Given the description of an element on the screen output the (x, y) to click on. 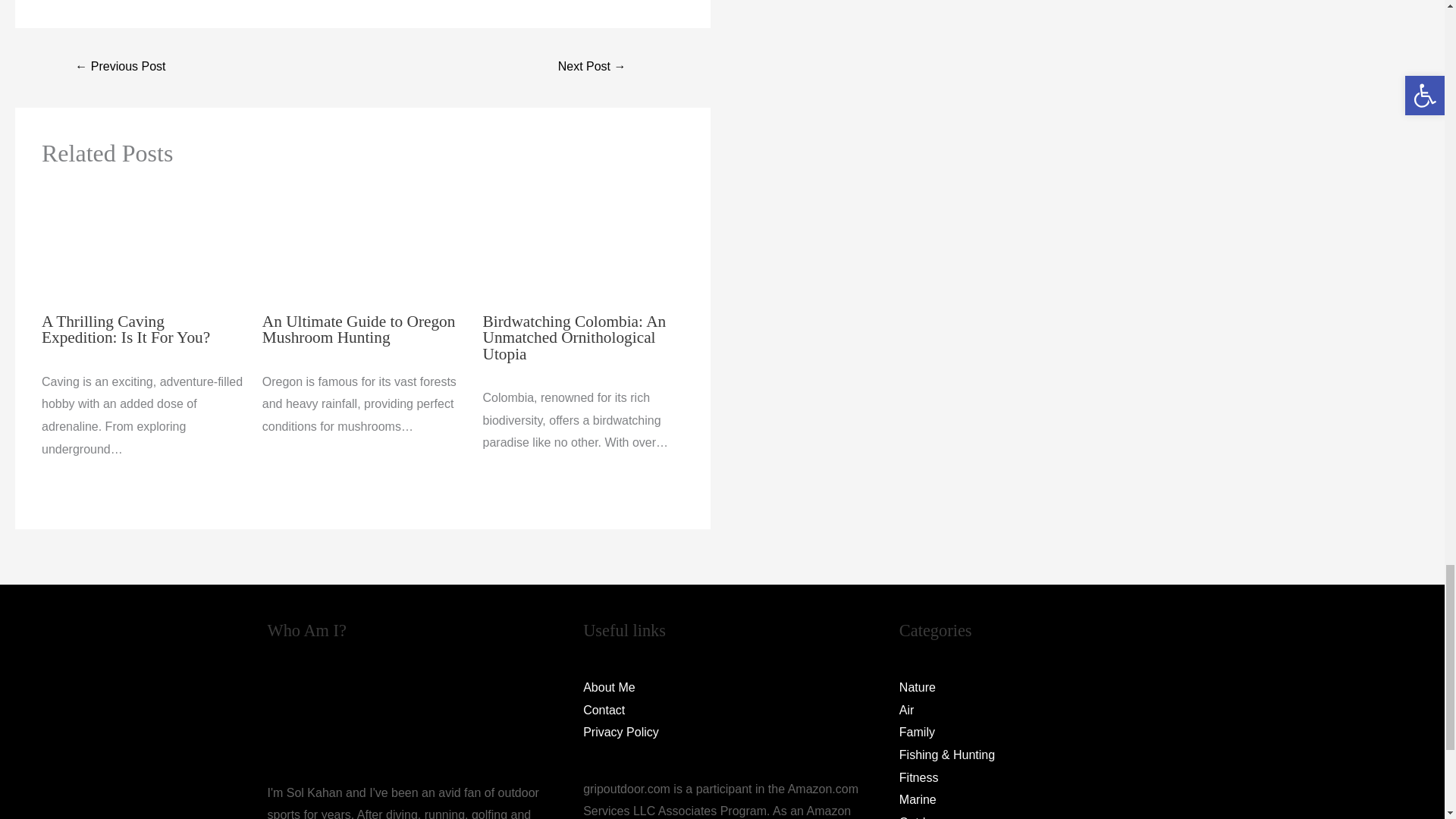
An Adventure Awaits at Hidden Falls Adventure Park (119, 67)
